Given the description of an element on the screen output the (x, y) to click on. 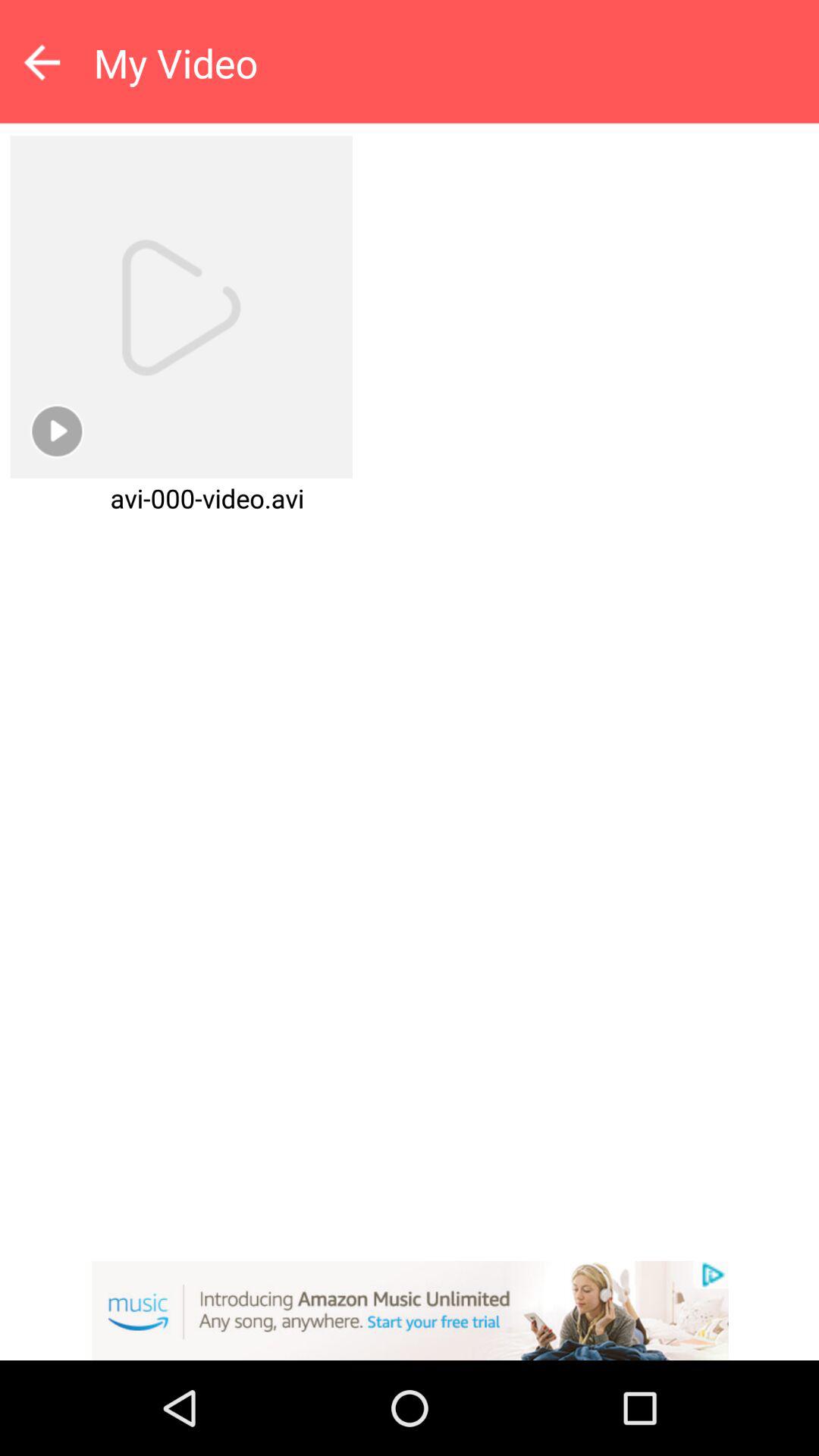
nurshing (409, 1310)
